Given the description of an element on the screen output the (x, y) to click on. 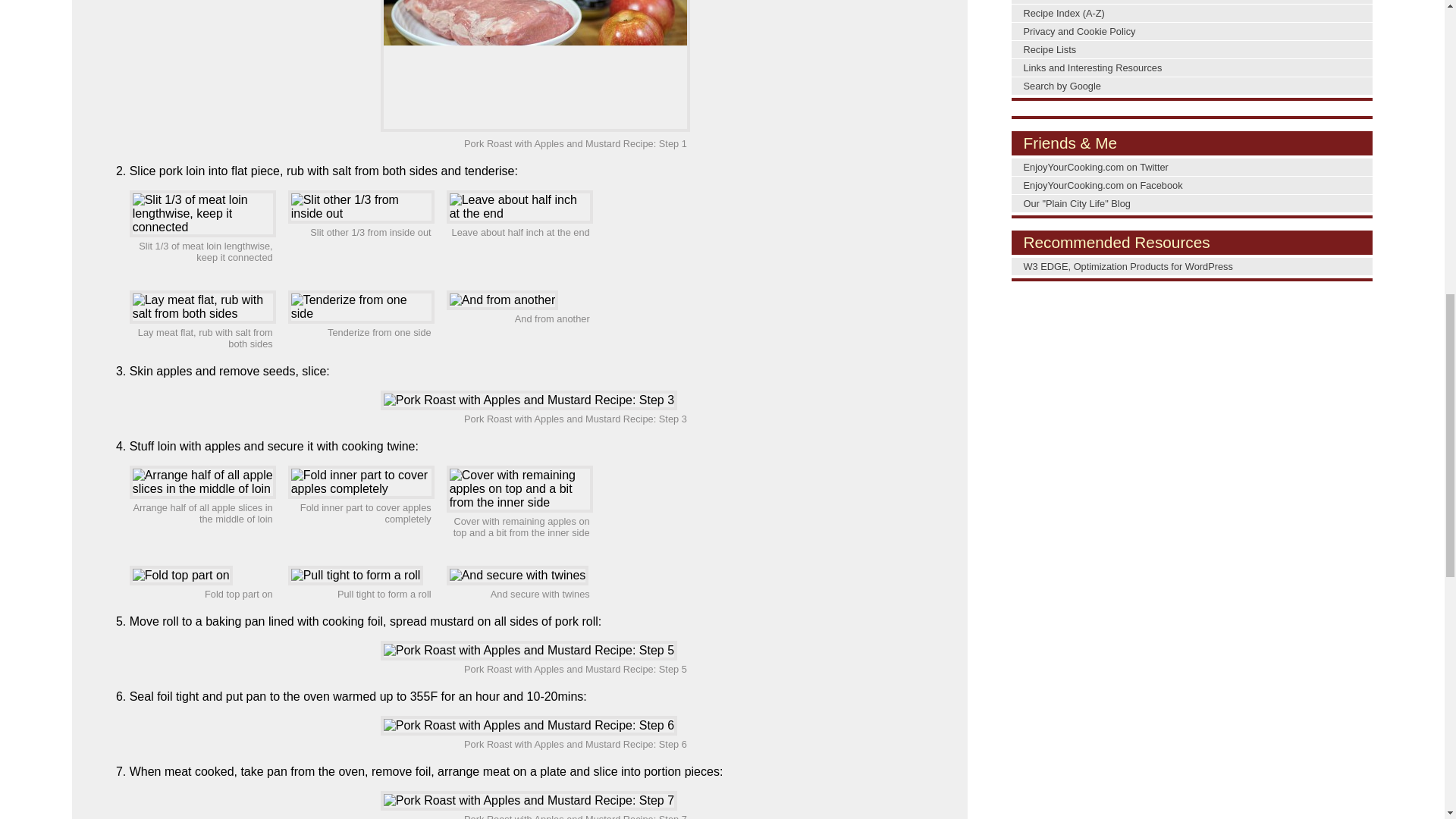
Pork Roast with Apples and Mustard Recipe: Step 1 (535, 65)
Lay meat flat, rub with salt from both sides (202, 306)
Tenderize from one side (360, 306)
Leave about half inch at the end (519, 206)
